Given the description of an element on the screen output the (x, y) to click on. 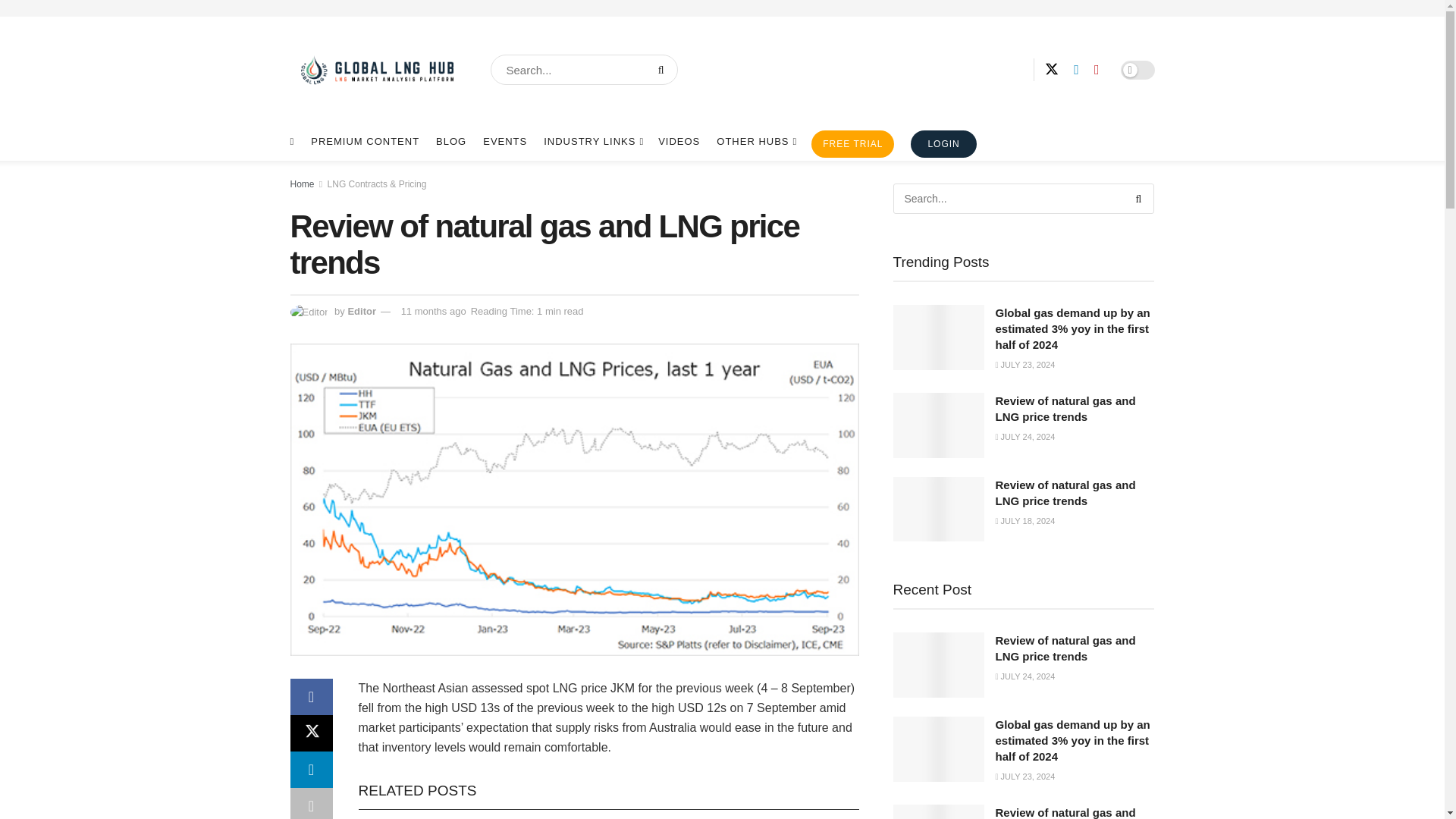
INDUSTRY LINKS (592, 141)
OTHER HUBS (755, 141)
LOGIN (943, 144)
PREMIUM CONTENT (365, 141)
EVENTS (505, 141)
FREE TRIAL (851, 144)
VIDEOS (679, 141)
